Given the description of an element on the screen output the (x, y) to click on. 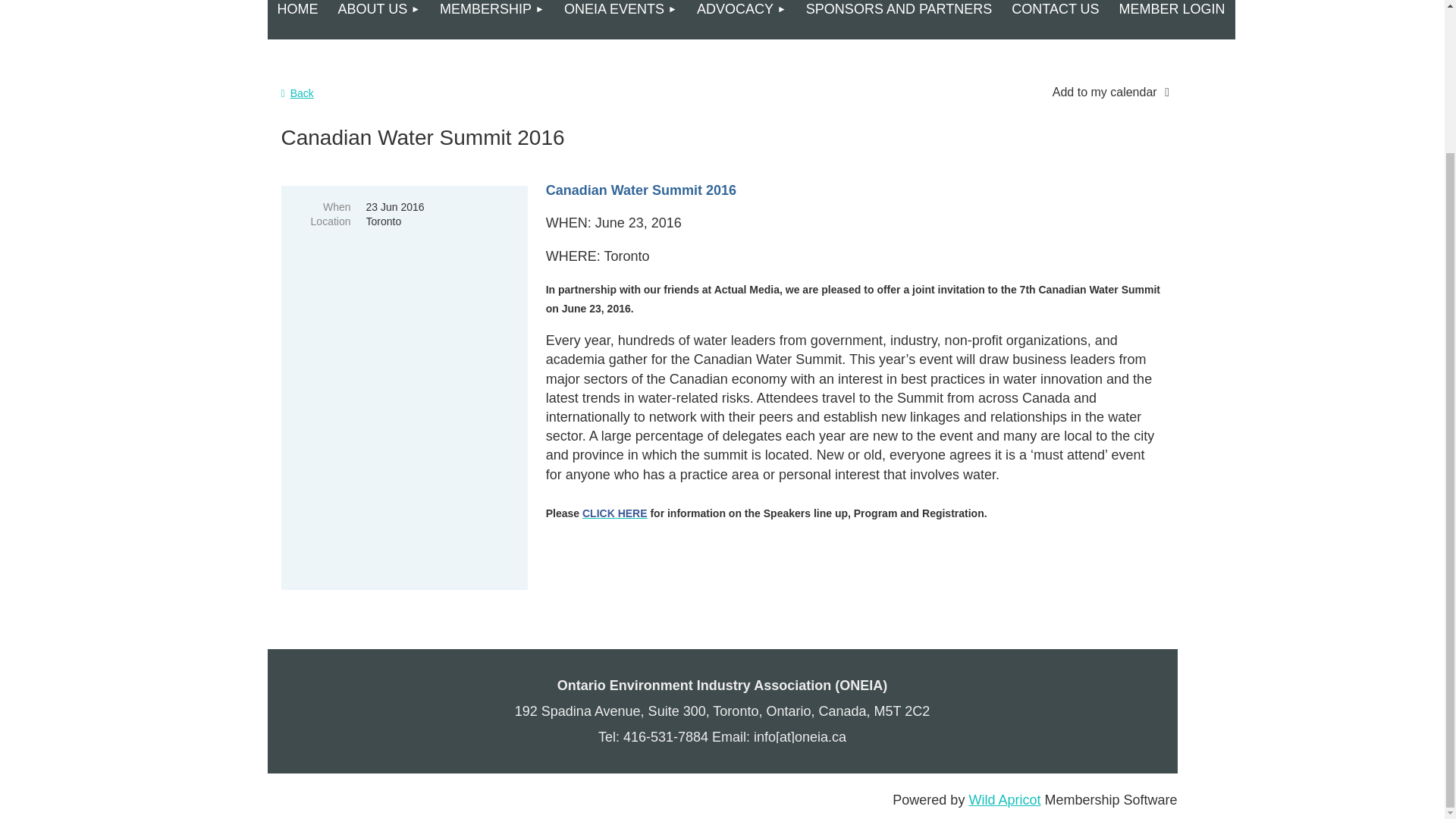
MEMBERSHIP (491, 19)
ABOUT US (378, 19)
HOME (296, 19)
